Given the description of an element on the screen output the (x, y) to click on. 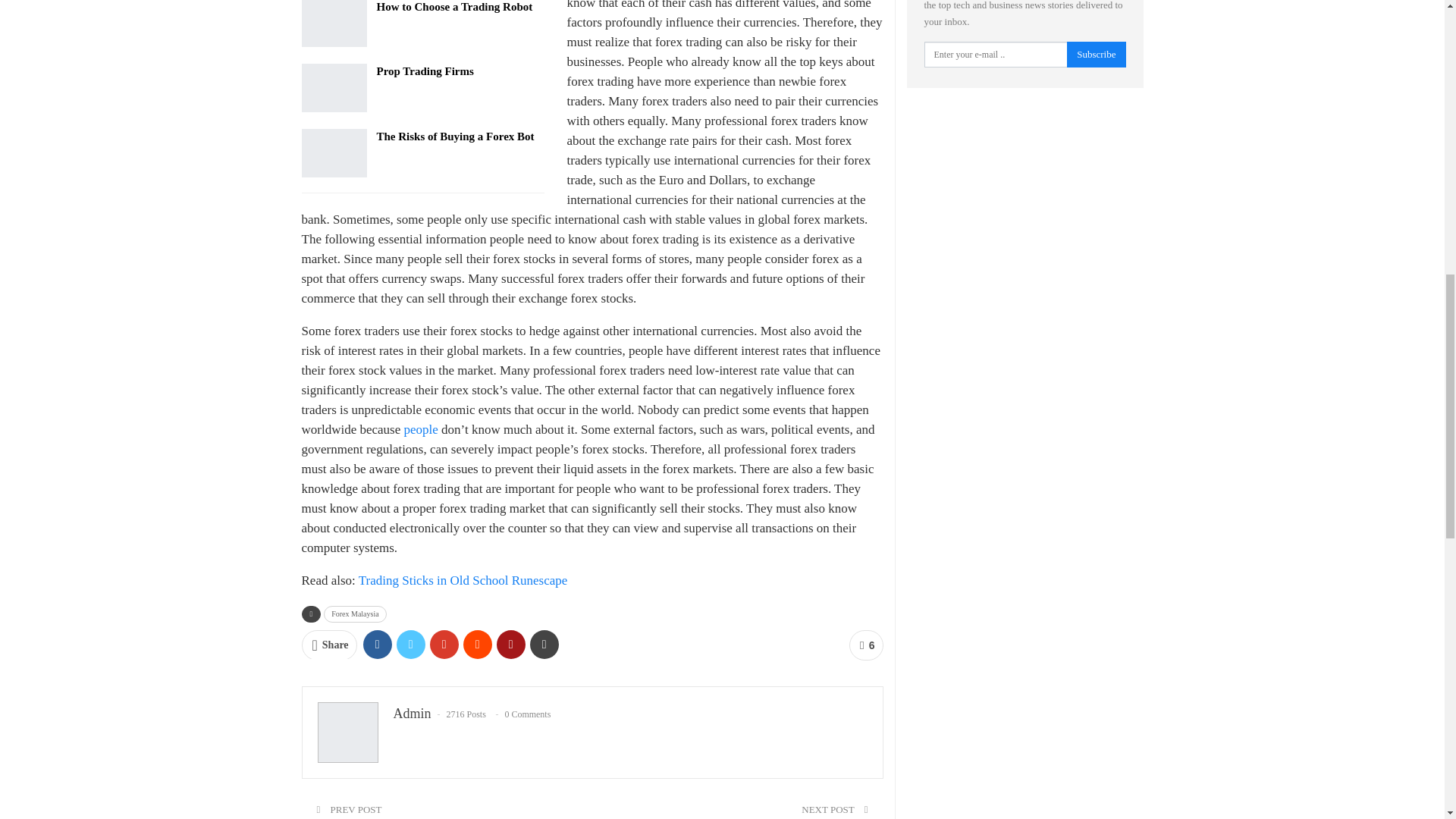
The Risks of Buying a Forex Bot (333, 152)
Prop Trading Firms (333, 87)
How to Choose a Trading Robot (333, 23)
